Given the description of an element on the screen output the (x, y) to click on. 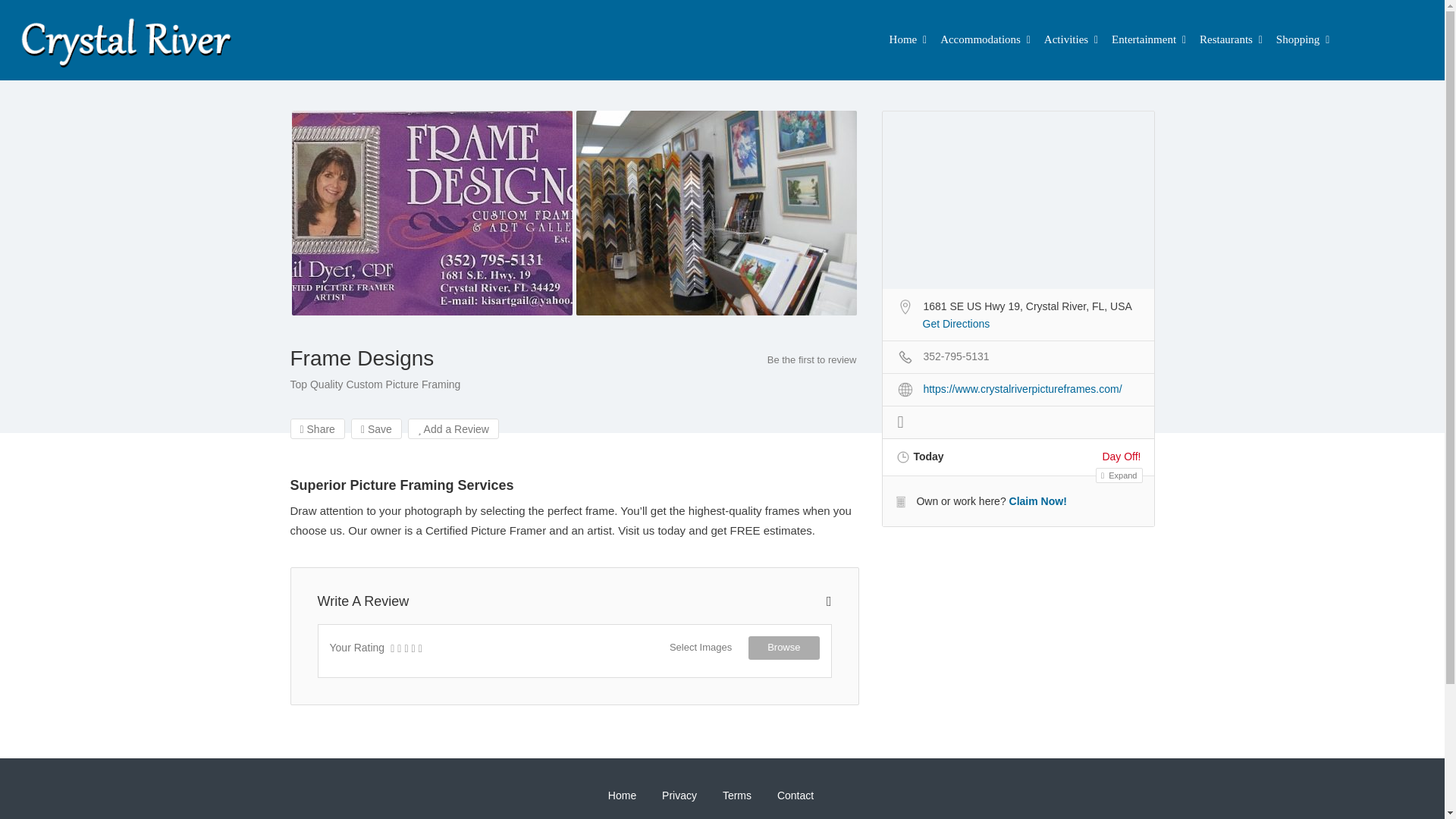
Entertainment (1144, 39)
Accommodations (980, 39)
Restaurants (1225, 39)
Home (903, 39)
Activities (1065, 39)
